Given the description of an element on the screen output the (x, y) to click on. 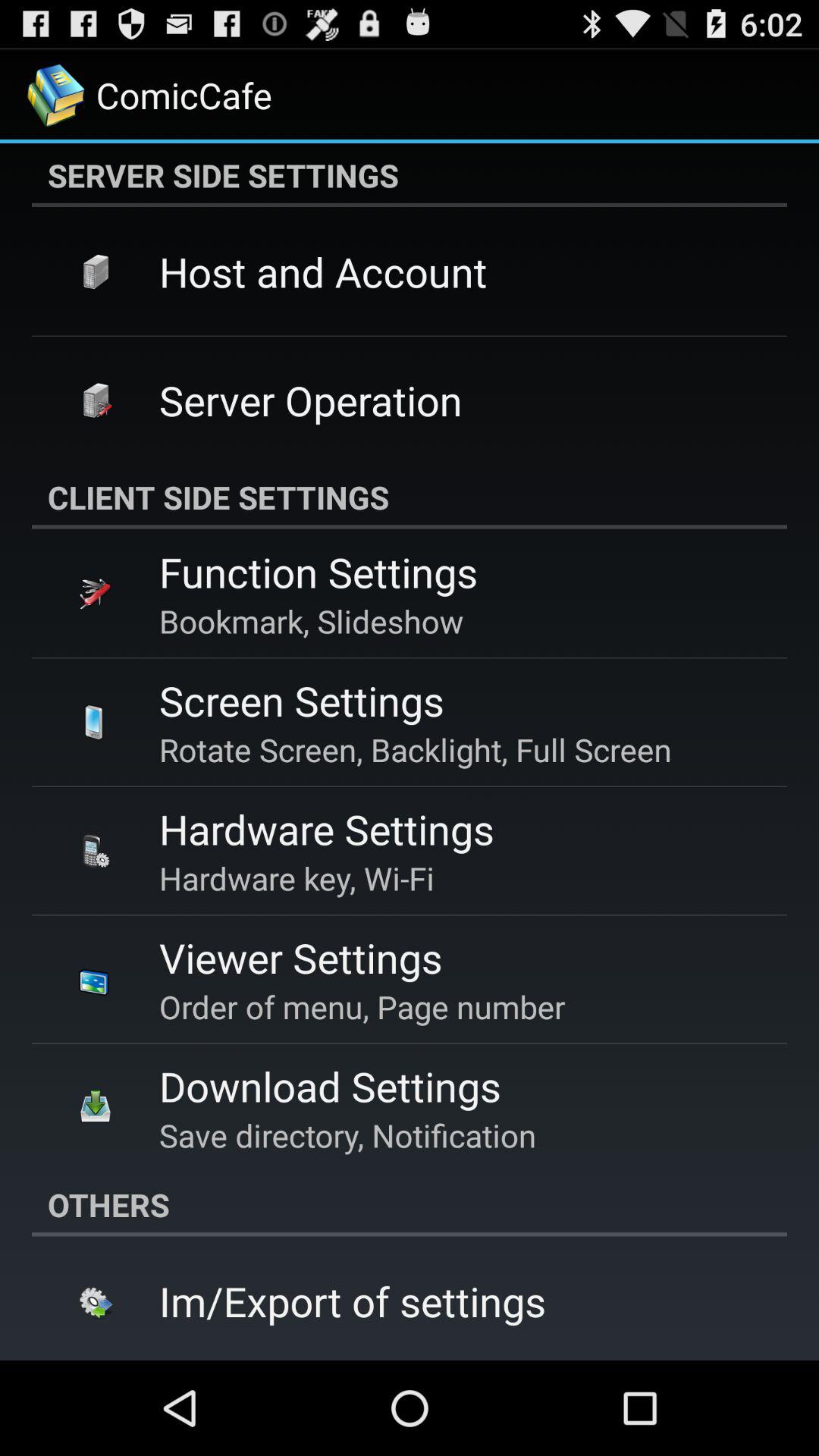
click download settings (330, 1085)
